Given the description of an element on the screen output the (x, y) to click on. 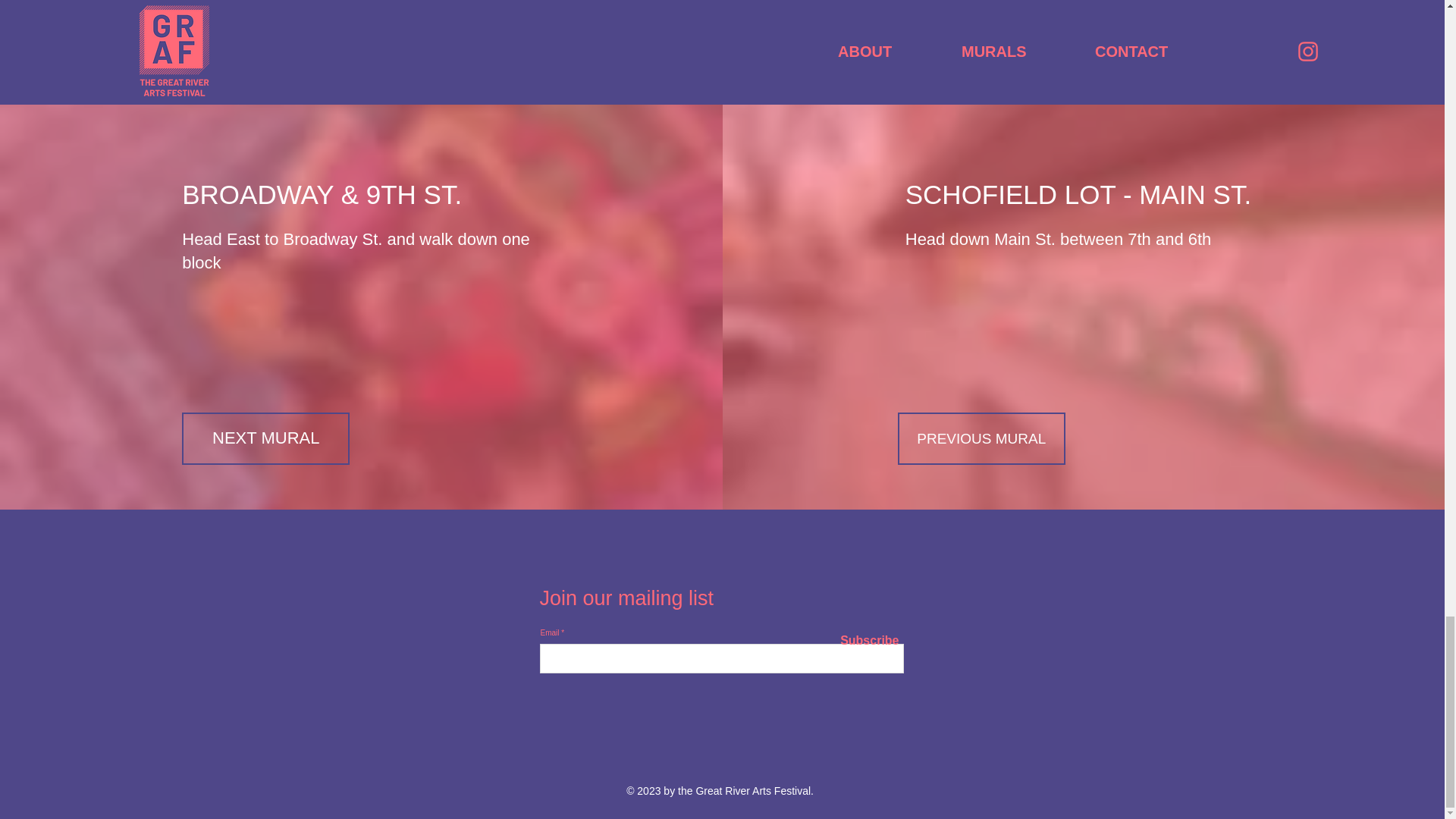
PREVIOUS MURAL (981, 438)
NEXT MURAL (265, 438)
Subscribe (864, 640)
